Given the description of an element on the screen output the (x, y) to click on. 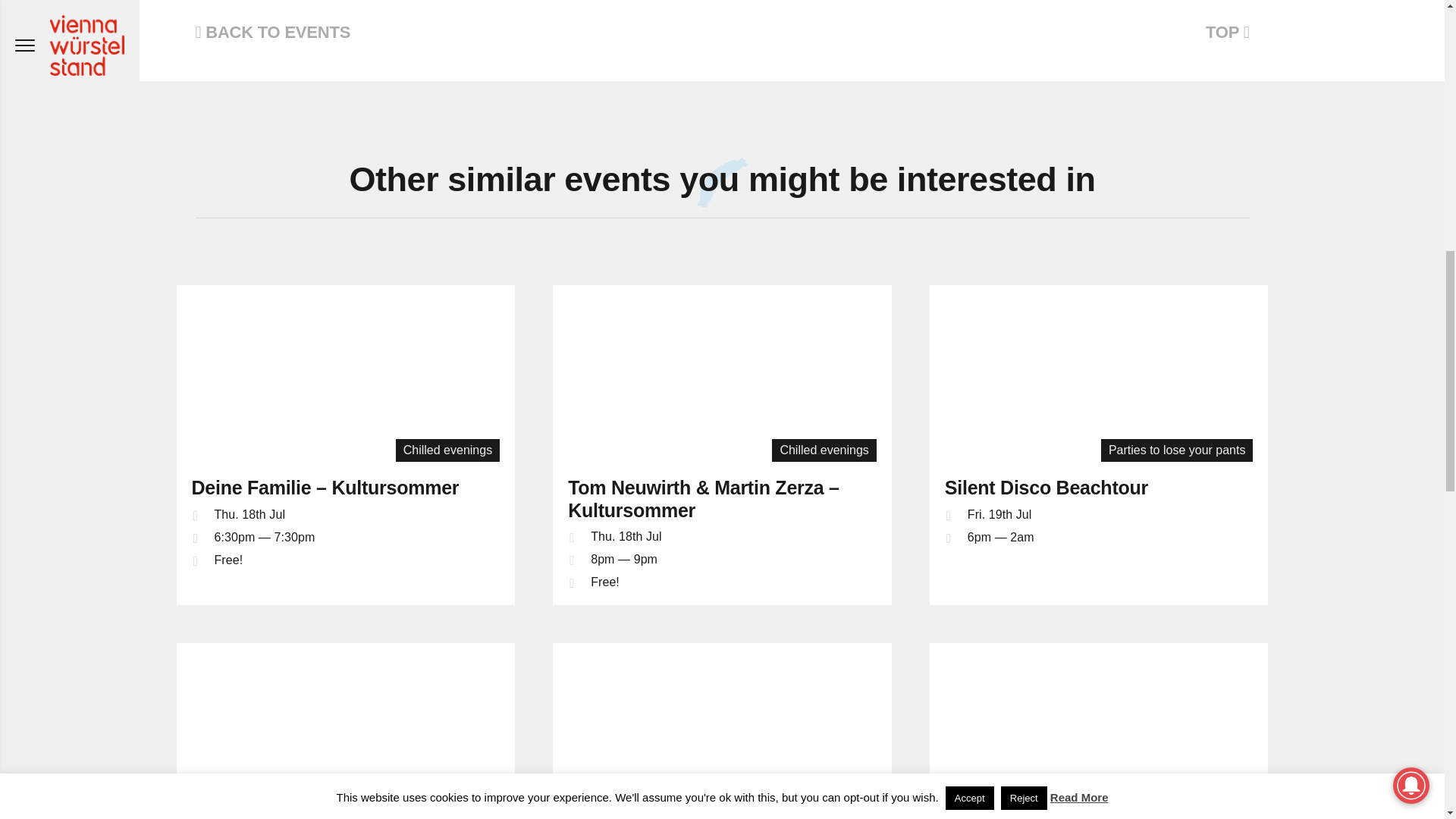
BACK TO EVENTS (272, 31)
TOP (1227, 31)
